Given the description of an element on the screen output the (x, y) to click on. 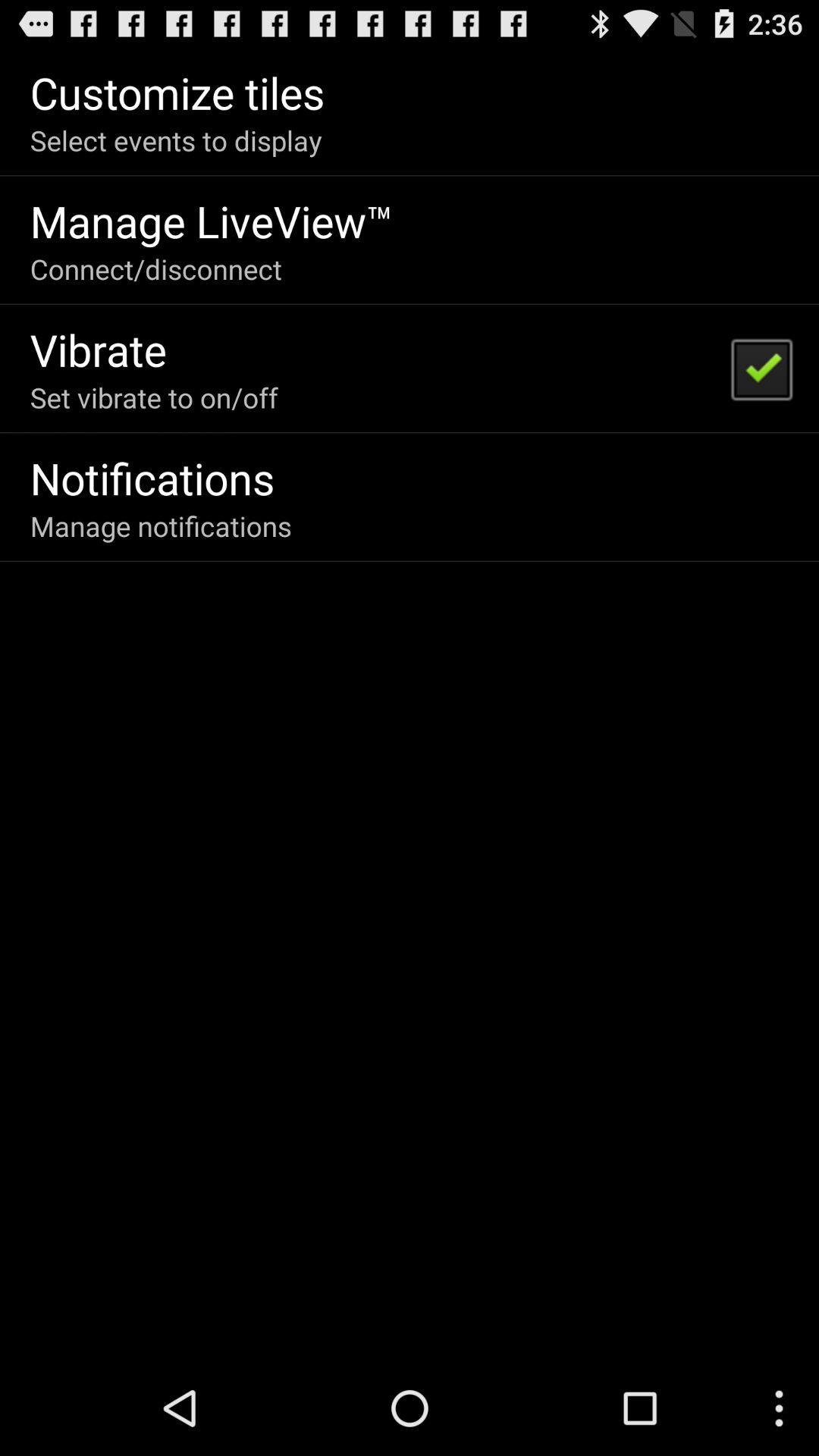
turn on app below customize tiles icon (175, 140)
